Given the description of an element on the screen output the (x, y) to click on. 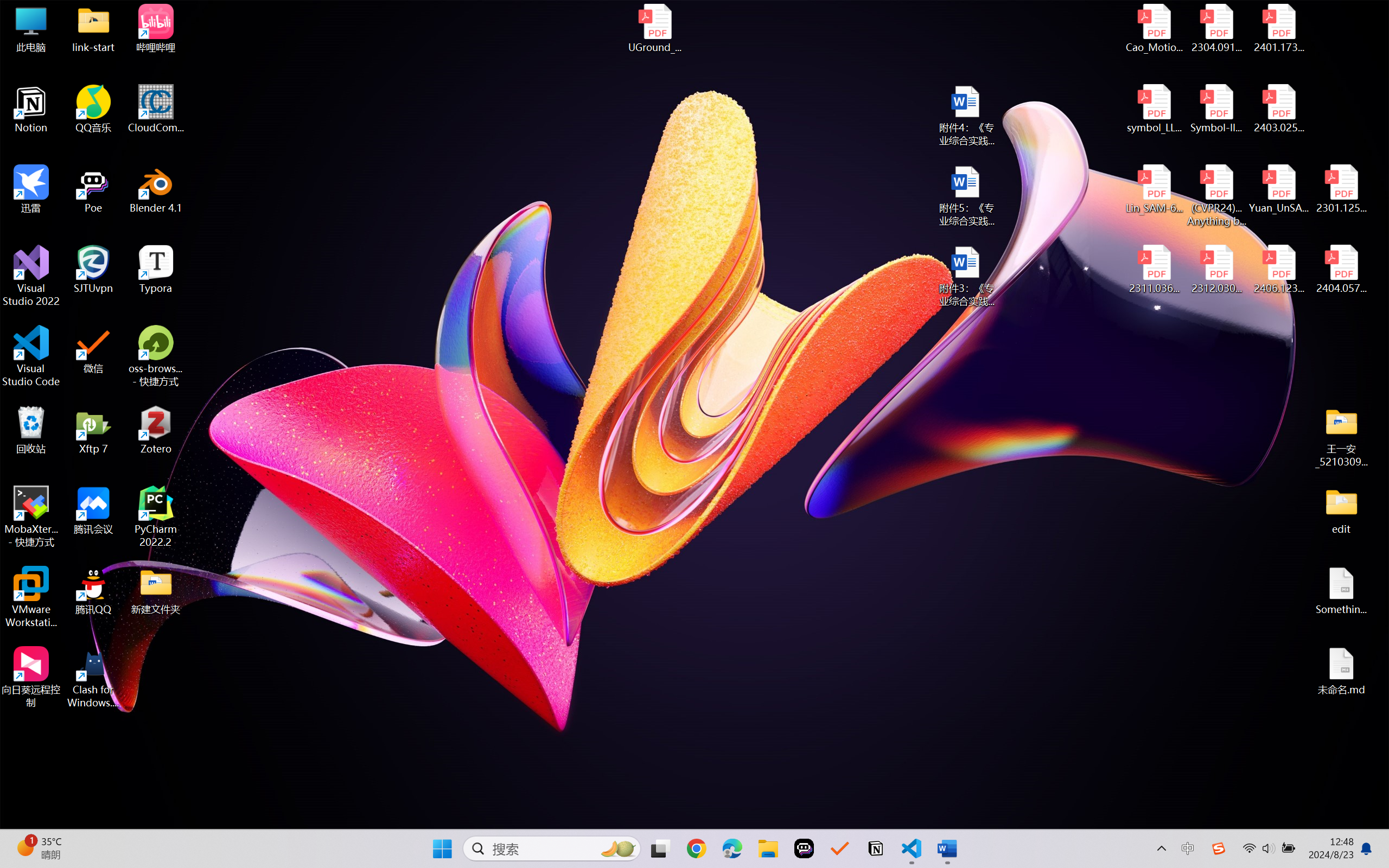
symbol_LLM.pdf (1154, 109)
2406.12373v2.pdf (1278, 269)
